Given the description of an element on the screen output the (x, y) to click on. 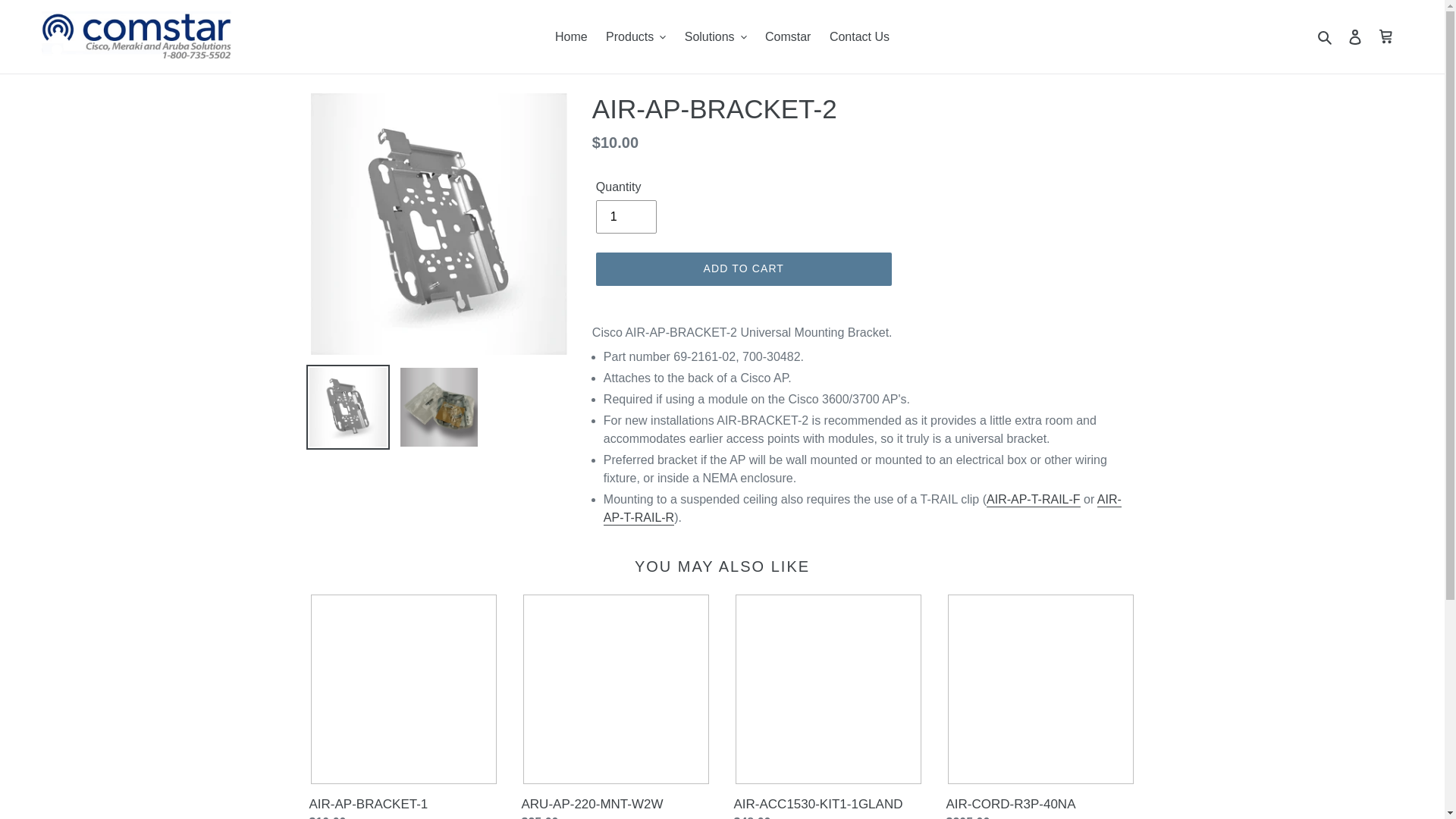
Home (571, 36)
AIR-AP-T-RAIL-R (862, 509)
AIR-AP-T-RAIL-F (1033, 499)
Products (635, 36)
1 (625, 216)
